Given the description of an element on the screen output the (x, y) to click on. 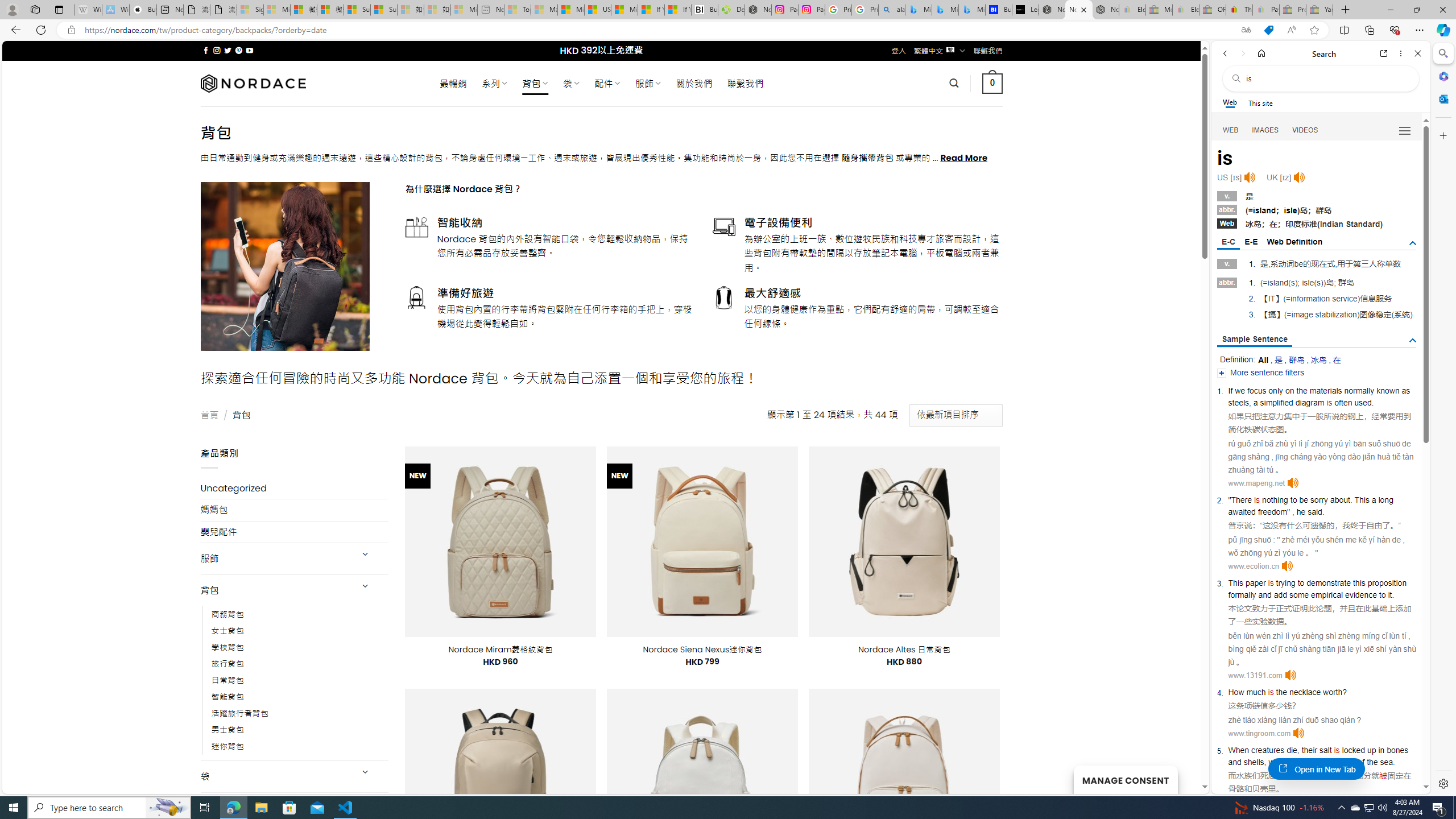
Threats and offensive language policy | eBay (1239, 9)
Web Definition (1294, 241)
sea (1386, 761)
normally (1358, 390)
add (1280, 594)
